Given the description of an element on the screen output the (x, y) to click on. 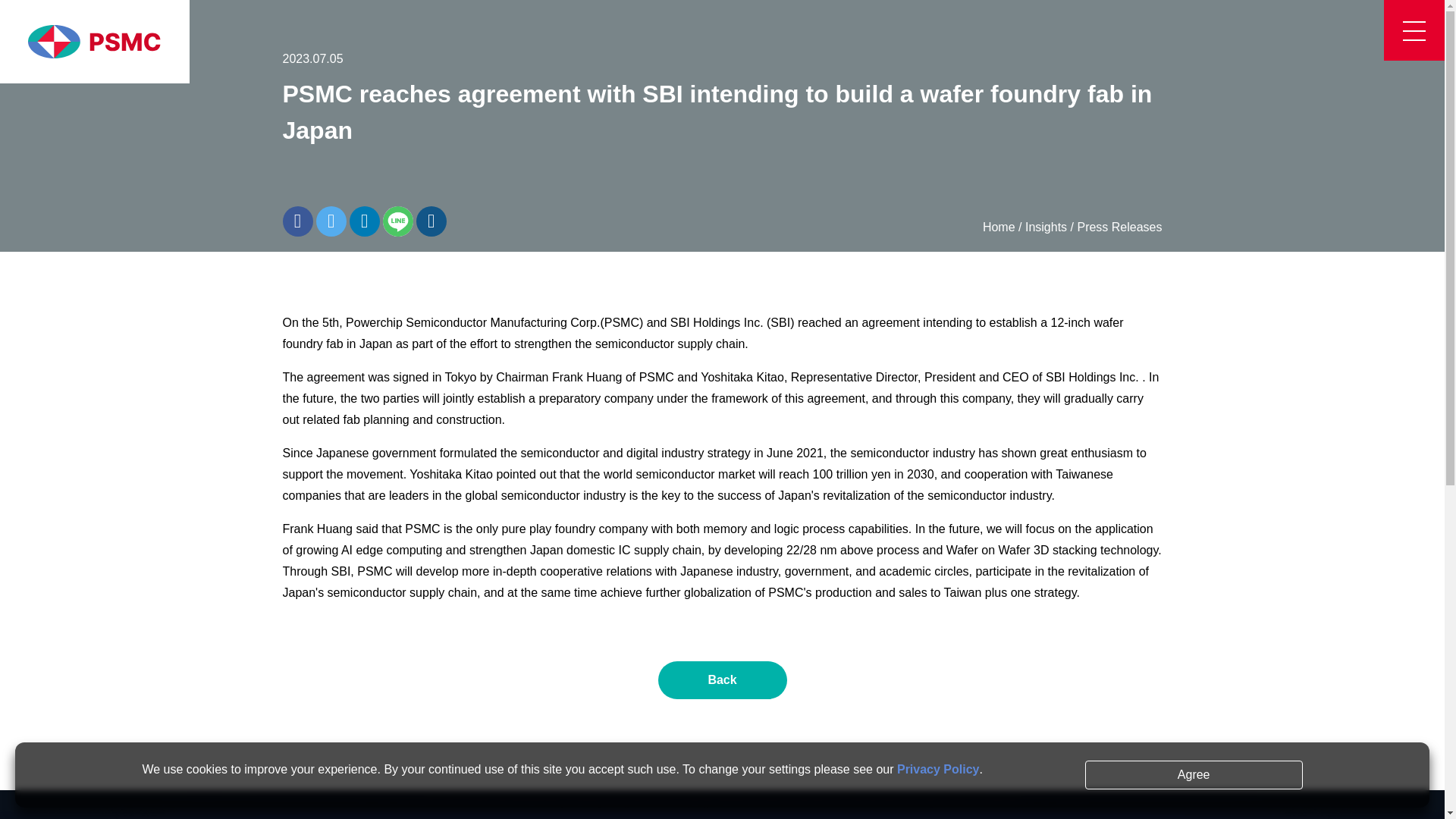
PSMC (94, 41)
